Given the description of an element on the screen output the (x, y) to click on. 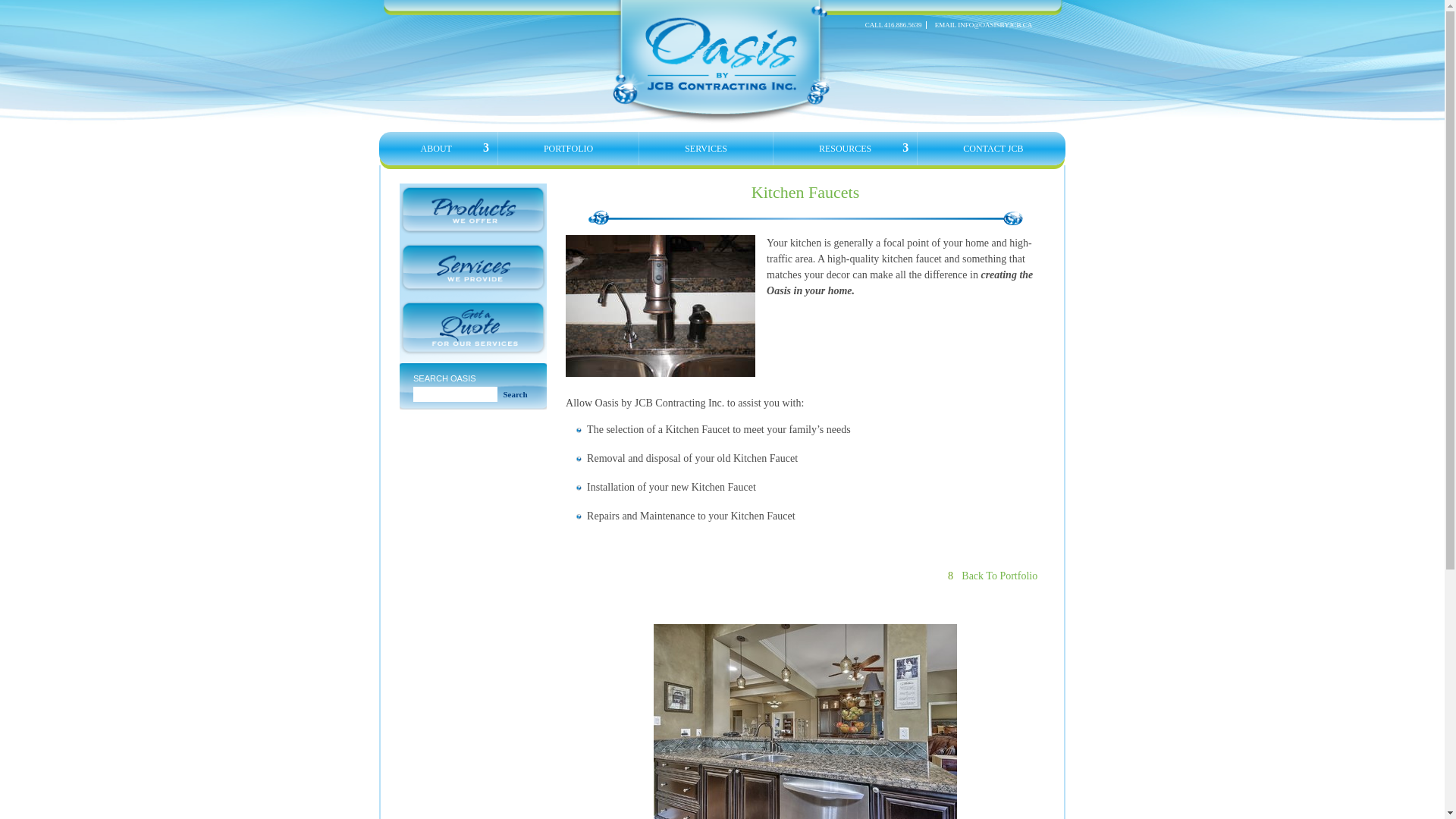
CONTACT JCB (992, 148)
CALL 416.886.5639 (892, 24)
bg-h1 (805, 217)
Search (514, 394)
logo (721, 62)
decor-1 (721, 7)
two (472, 327)
RESOURCES (844, 148)
ABOUT (436, 148)
two (472, 210)
two (472, 267)
PORTFOLIO (568, 148)
SERVICES (705, 148)
Search (514, 394)
